Given the description of an element on the screen output the (x, y) to click on. 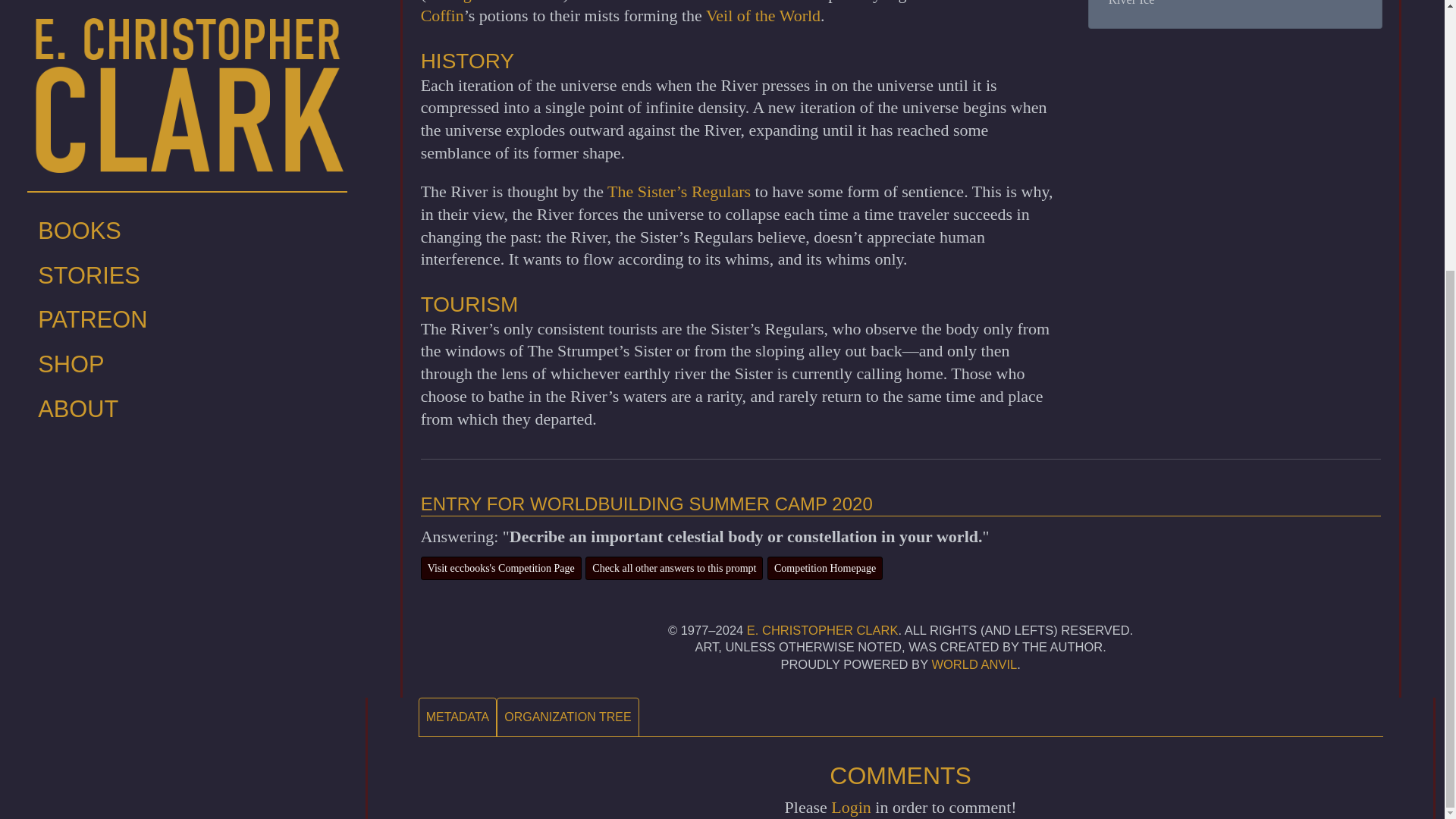
Check all other answers to this prompt (673, 567)
River Ice (1131, 3)
WORLD ANVIL (973, 663)
METADATA (458, 717)
Veil of the World (763, 15)
Competition Homepage (824, 567)
E. CHRISTOPHER CLARK (822, 630)
Visit eccbooks's Competition Page (500, 567)
doing the Unstuck (494, 1)
ABOUT (187, 17)
ORGANIZATION TREE (567, 717)
Ada Coffin (710, 12)
